Given the description of an element on the screen output the (x, y) to click on. 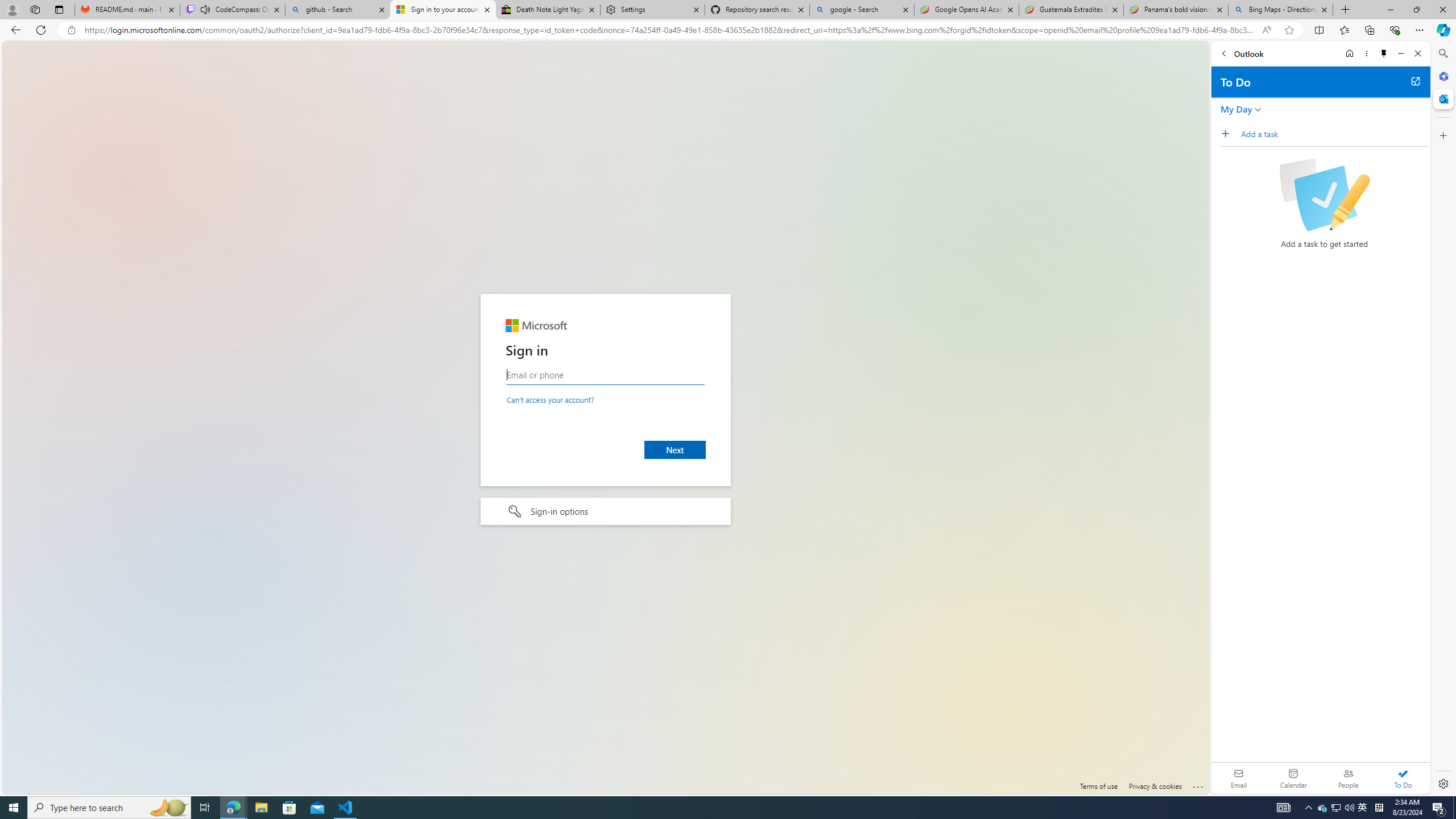
Organization background image (605, 416)
Terms of use (1098, 786)
Sign-in options (605, 511)
Privacy & cookies (1155, 786)
Checkbox with a pencil (1324, 194)
Next (675, 449)
